Given the description of an element on the screen output the (x, y) to click on. 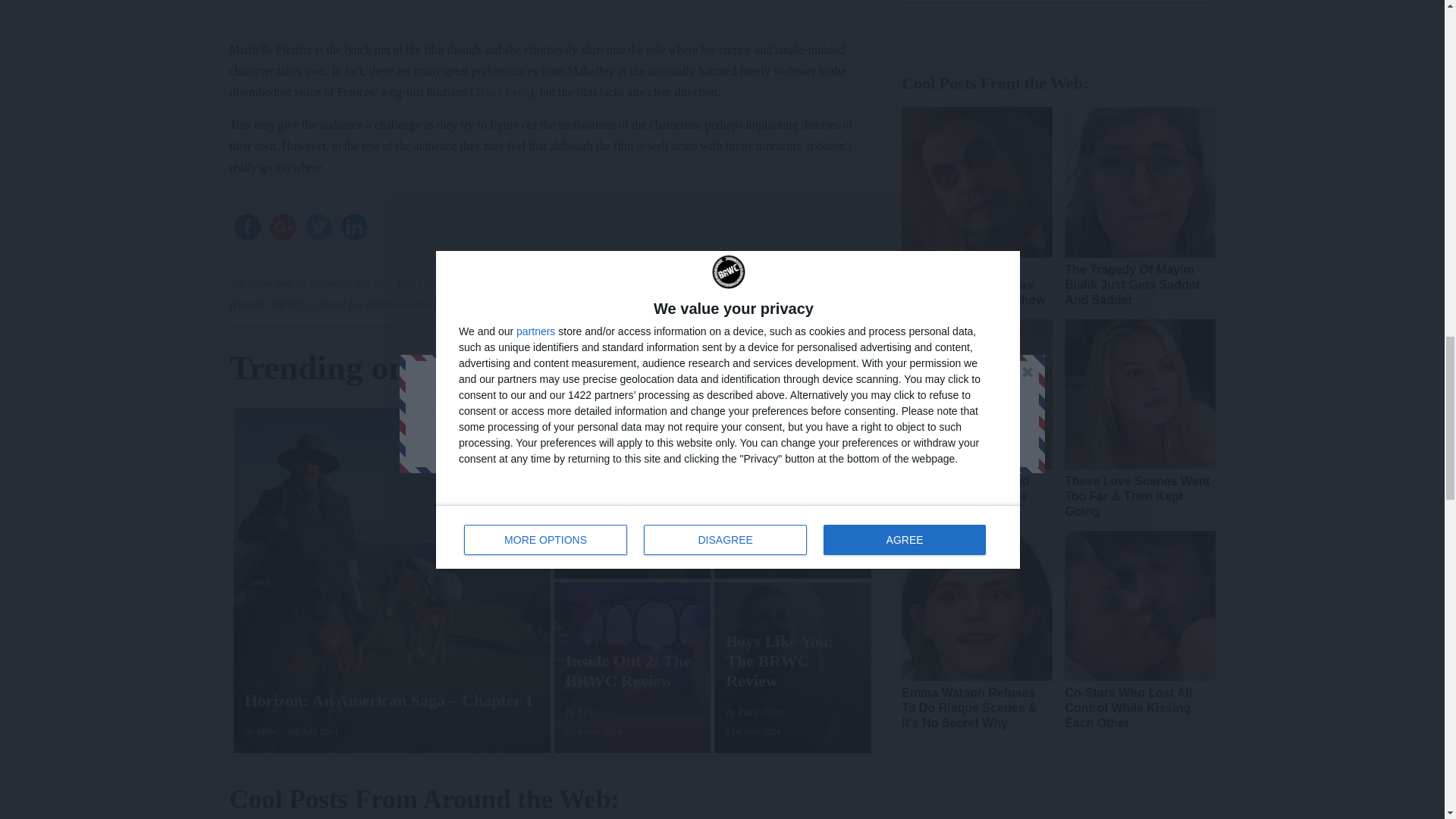
facebook (246, 226)
google (282, 226)
linkedin (354, 226)
twitter (317, 226)
